Given the description of an element on the screen output the (x, y) to click on. 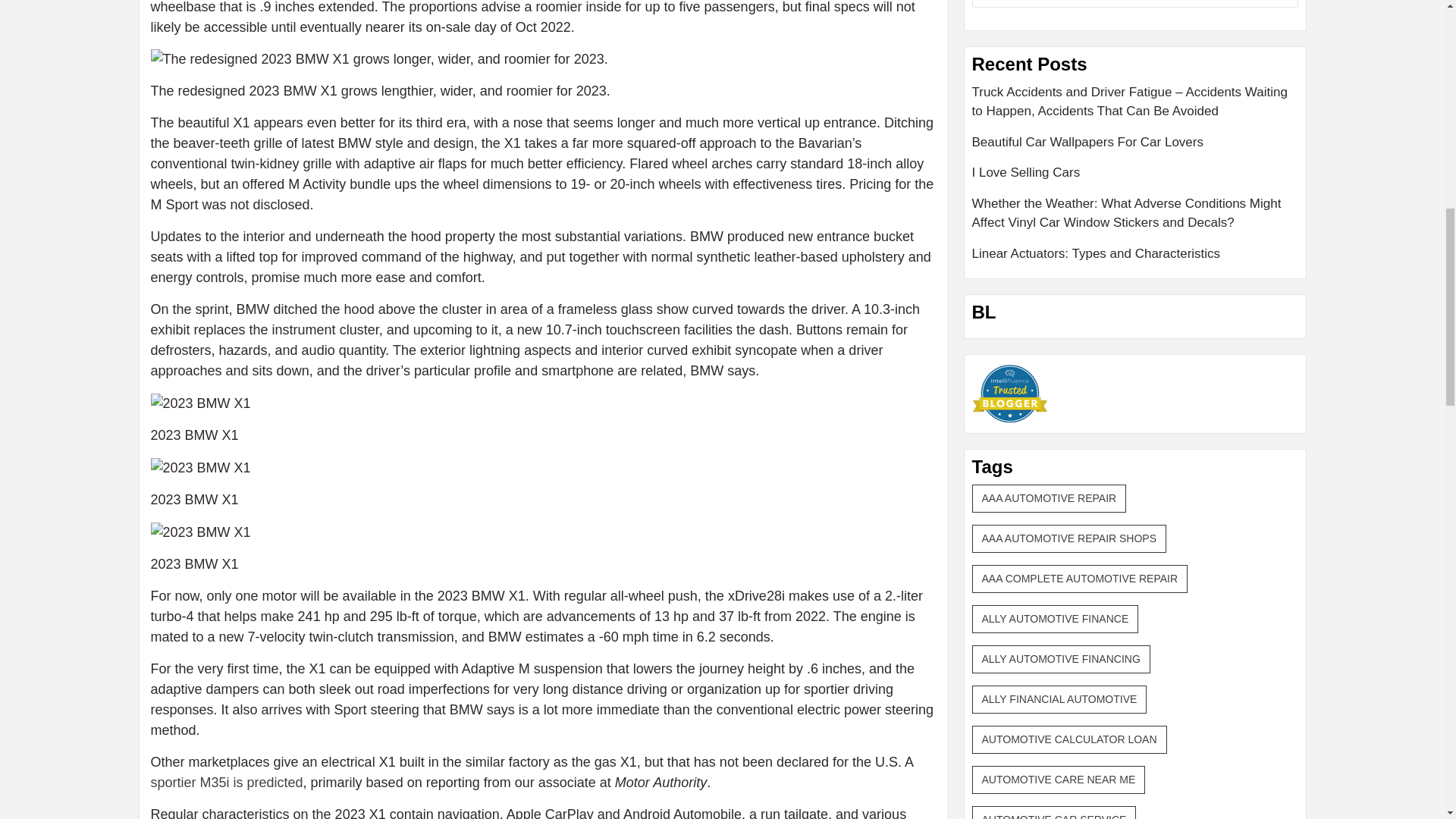
2023 BMW X1 (199, 467)
sportier M35i is predicted (225, 782)
2023 BMW X1 (199, 403)
2023 BMW X1 (199, 532)
